Given the description of an element on the screen output the (x, y) to click on. 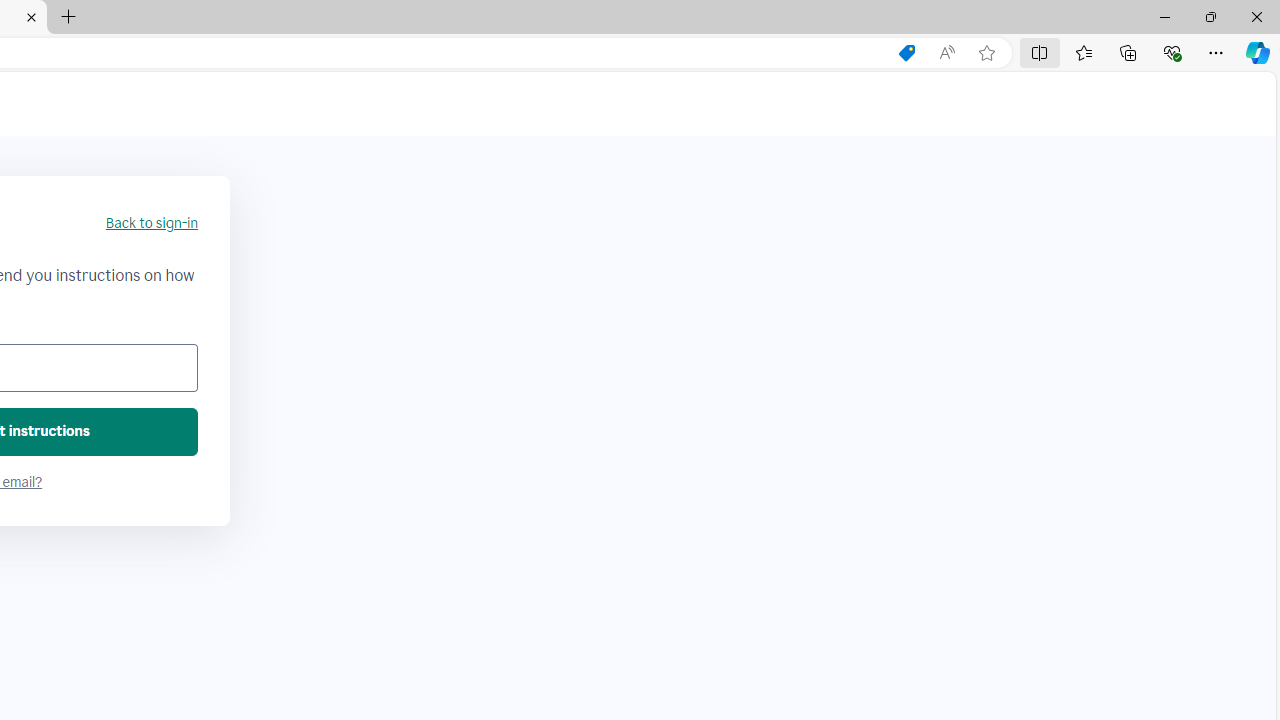
Back to sign-in (151, 223)
